Given the description of an element on the screen output the (x, y) to click on. 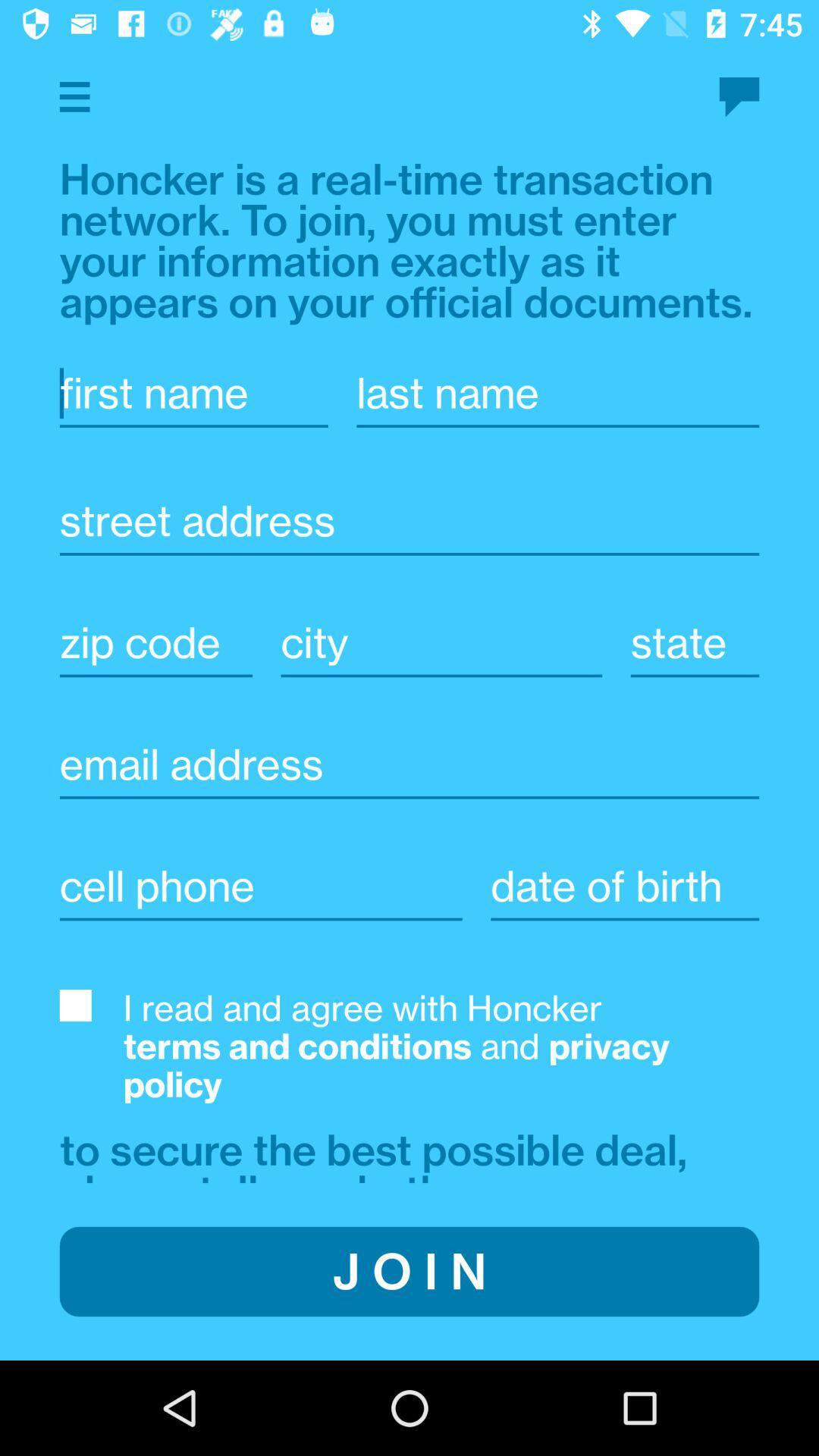
enter city name (441, 642)
